Given the description of an element on the screen output the (x, y) to click on. 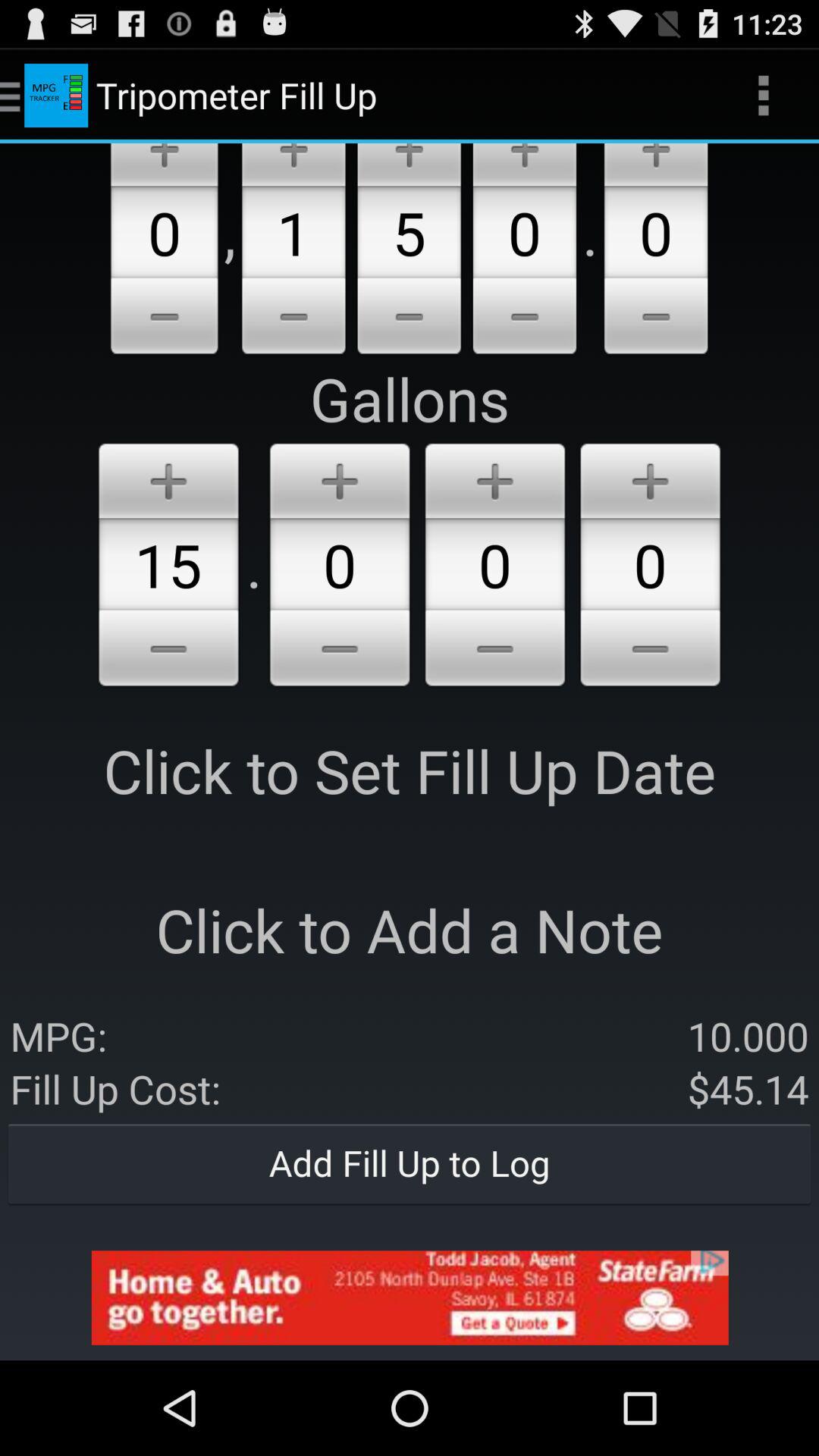
add number button (339, 478)
